Given the description of an element on the screen output the (x, y) to click on. 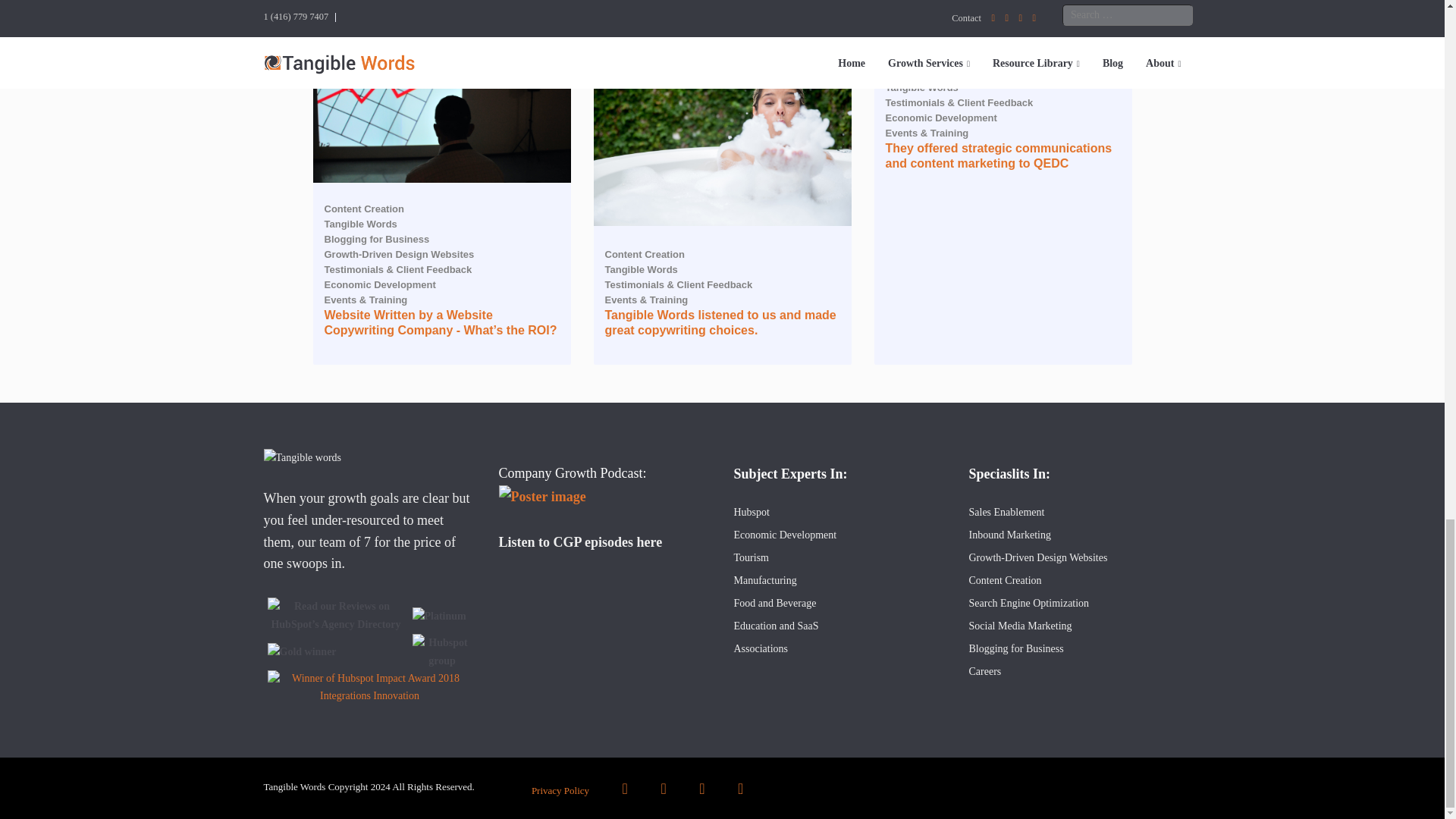
Gold winner (301, 651)
Hubspot group (441, 651)
Winner of Hubspot Impact Award 2018 Integrations Innovation (369, 687)
Platinum (437, 616)
Tangible words (302, 457)
